Given the description of an element on the screen output the (x, y) to click on. 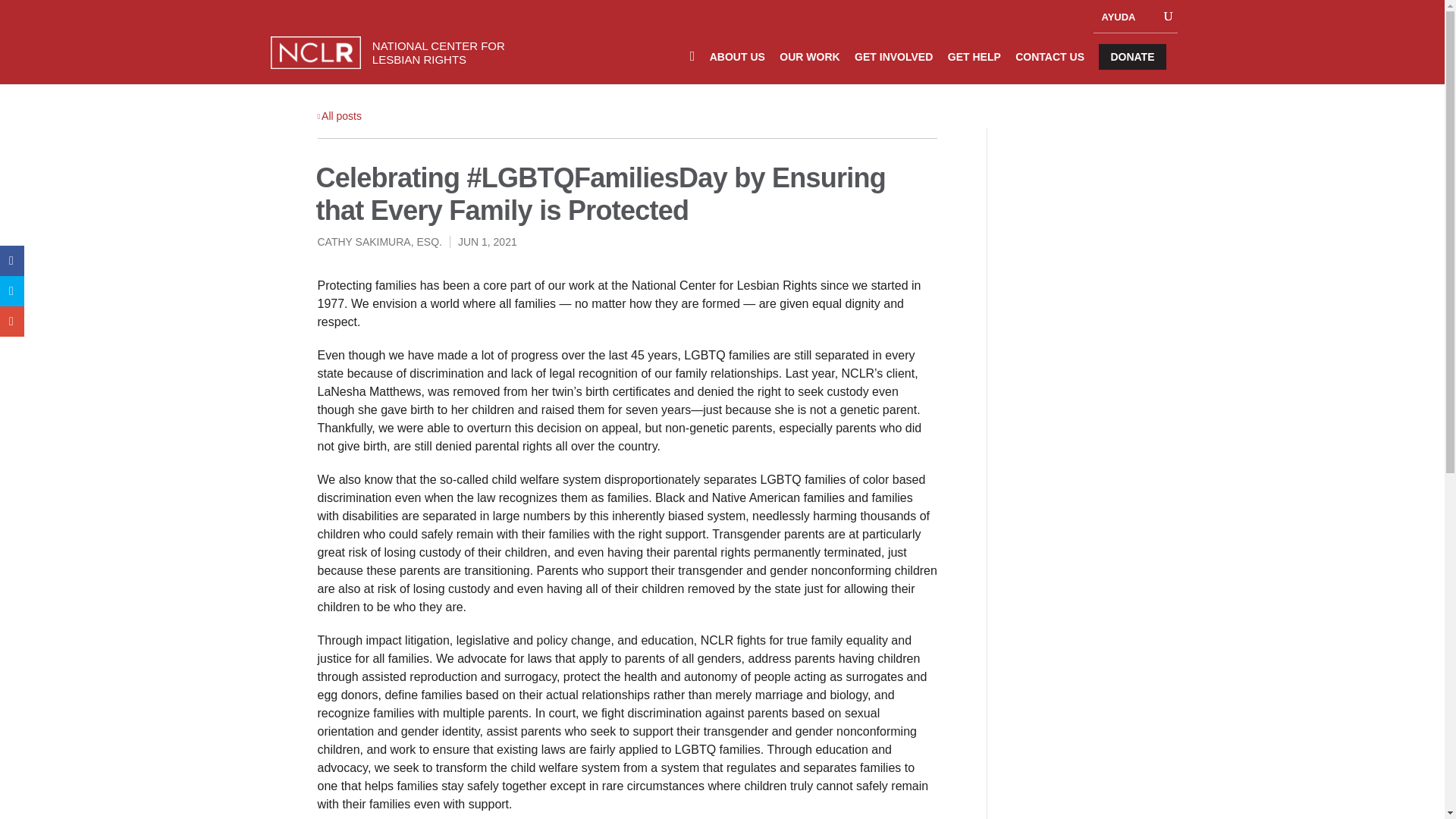
Posts by Cathy Sakimura, Esq. (379, 241)
OUR WORK (809, 65)
GET INVOLVED (893, 65)
